Given the description of an element on the screen output the (x, y) to click on. 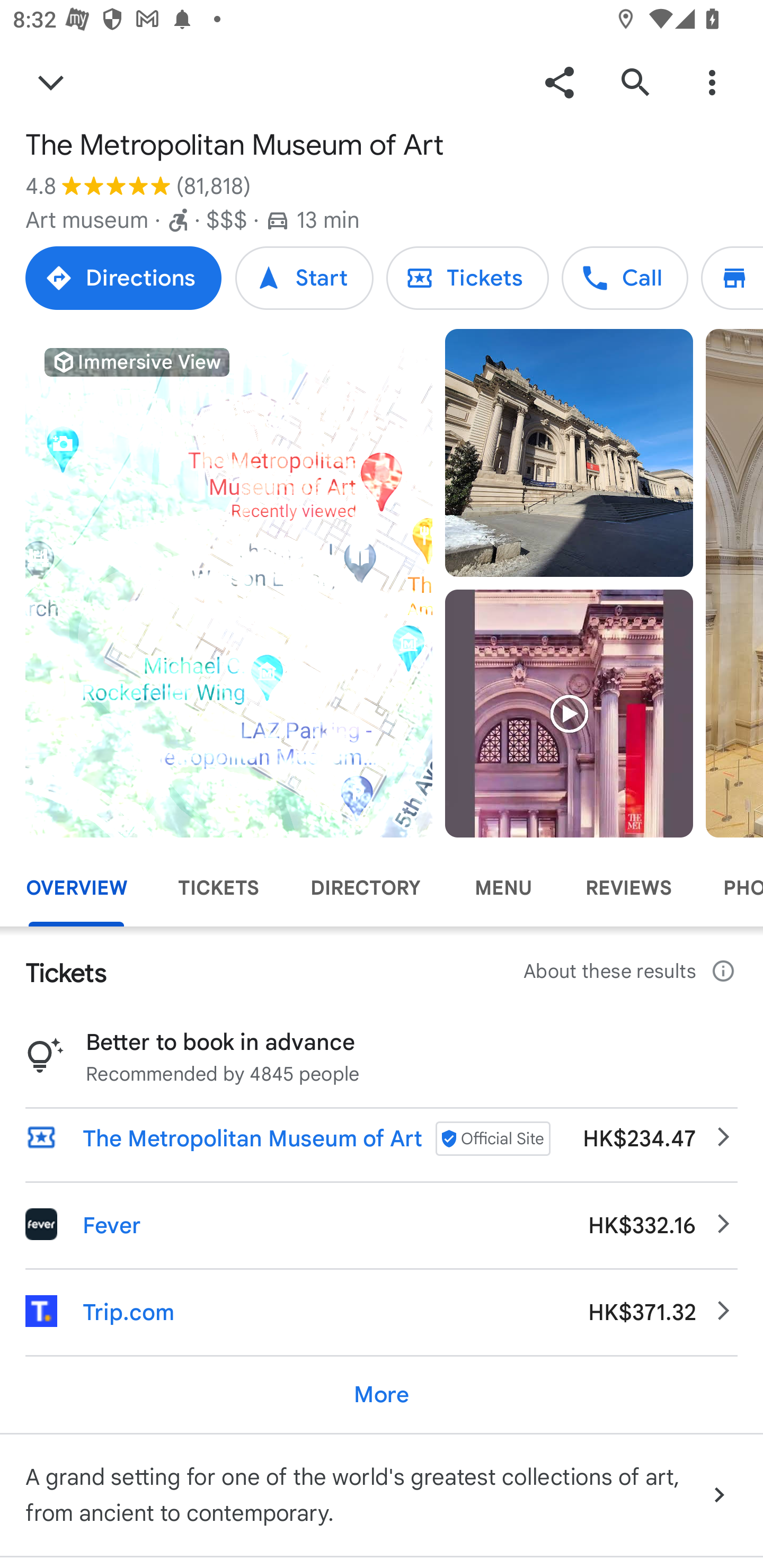
Back to Search (50, 81)
Share (559, 81)
Search (635, 81)
More options for The Metropolitan Museum of Art (711, 81)
Start Start Start (304, 277)
Tickets (467, 277)
Directory Directory Directory (732, 277)
Video Immersive View (228, 583)
Photo (568, 453)
Video (568, 713)
TICKETS Tickets (218, 887)
DIRECTORY Directory (364, 887)
MENU Menu (502, 887)
REVIEWS Reviews (628, 887)
About these results (630, 970)
Fever HK$332.16 (381, 1225)
Trip.com HK$371.32 (381, 1312)
More More More (381, 1394)
